Given the description of an element on the screen output the (x, y) to click on. 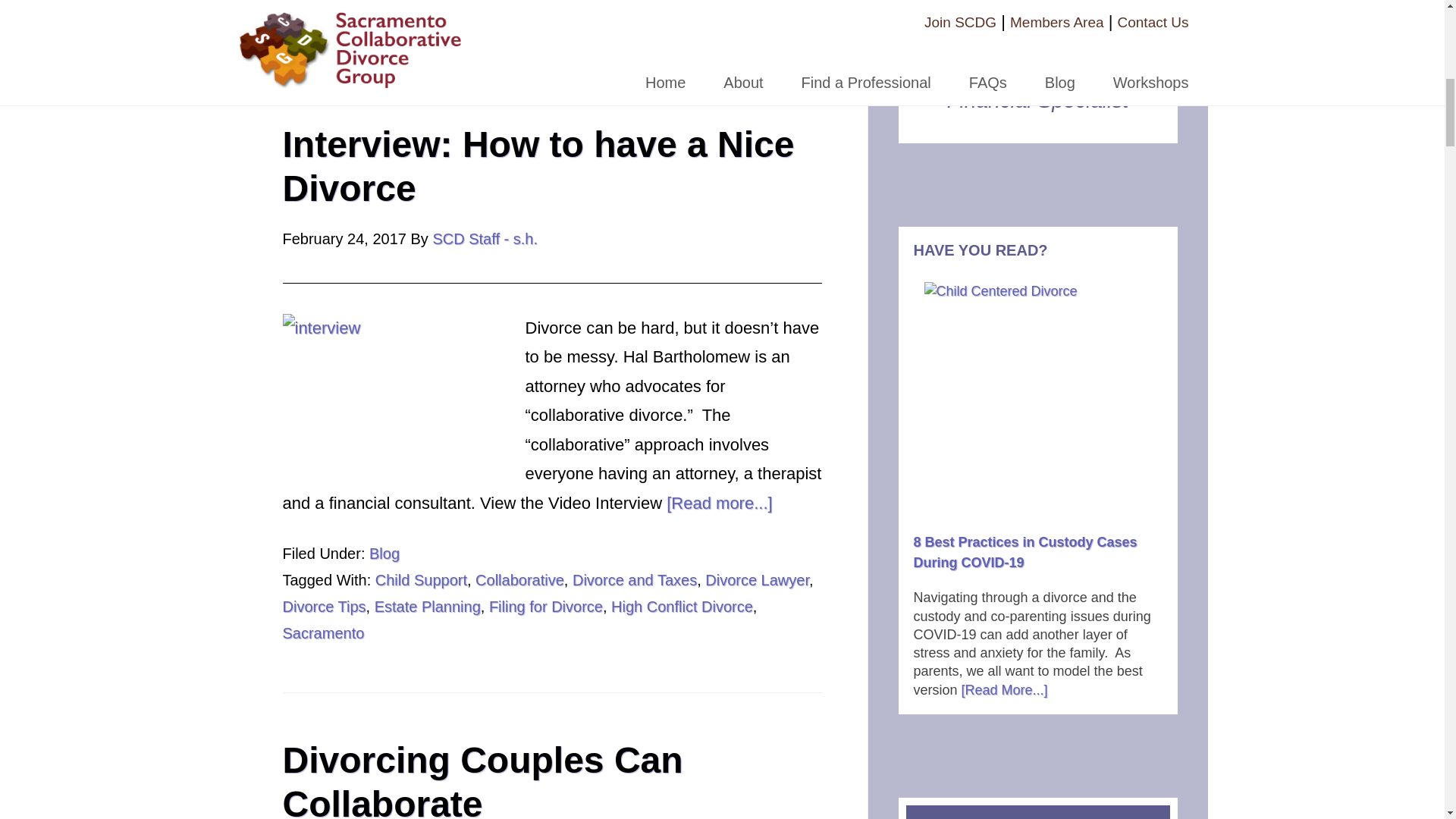
Christopher F. Whitaker (1037, 62)
Christopher F. Whitaker (1036, 7)
8 Best Practices in Custody Cases During COVID-19 (1024, 552)
8 Best Practices in Custody Cases During COVID-19 (1036, 395)
